Given the description of an element on the screen output the (x, y) to click on. 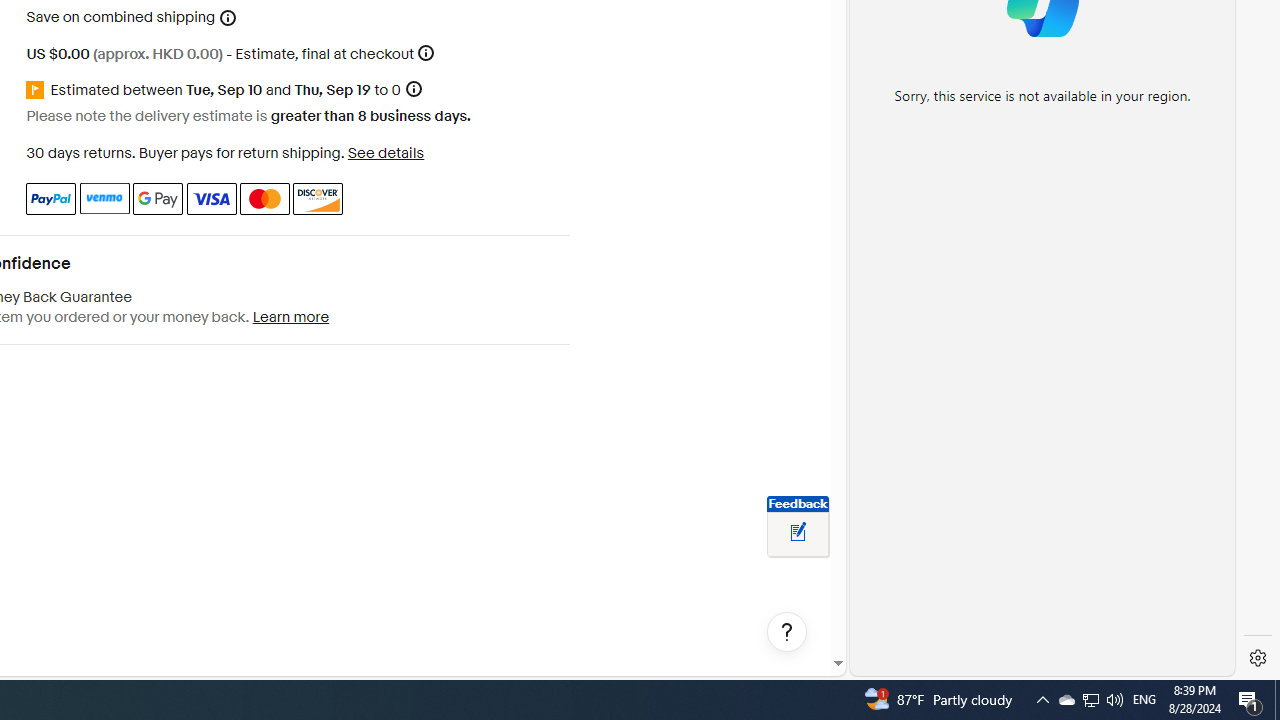
Google Pay (158, 198)
PayPal (50, 198)
Visa (210, 198)
Help, opens dialogs (787, 632)
Leave feedback about your eBay ViewItem experience (797, 533)
Information - Estimated delivery date - opens a layer (413, 89)
More information (426, 52)
More information on Combined Shipping. Opens a layer. (228, 17)
Venmo (104, 198)
Master Card (264, 198)
Delivery alert flag (38, 89)
